Given the description of an element on the screen output the (x, y) to click on. 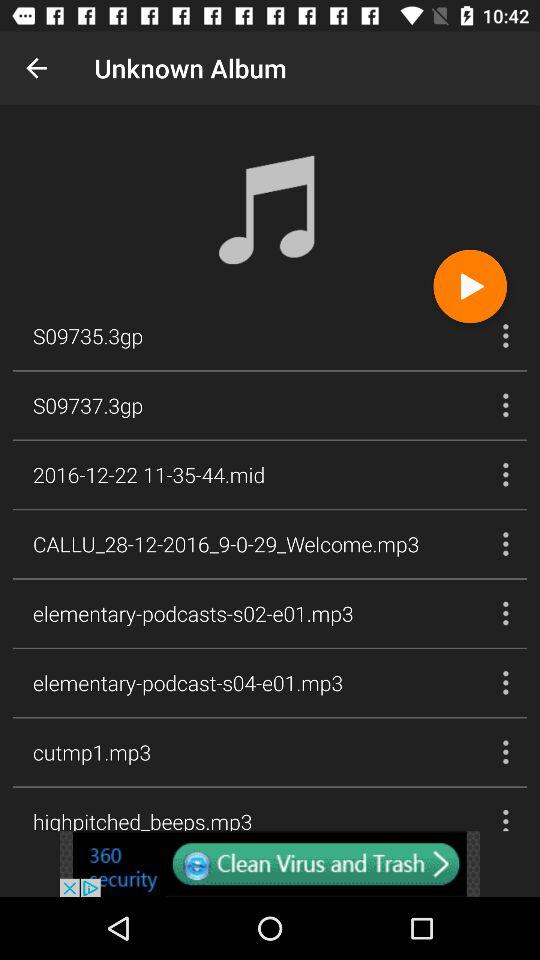
click virus and trash (270, 864)
